Given the description of an element on the screen output the (x, y) to click on. 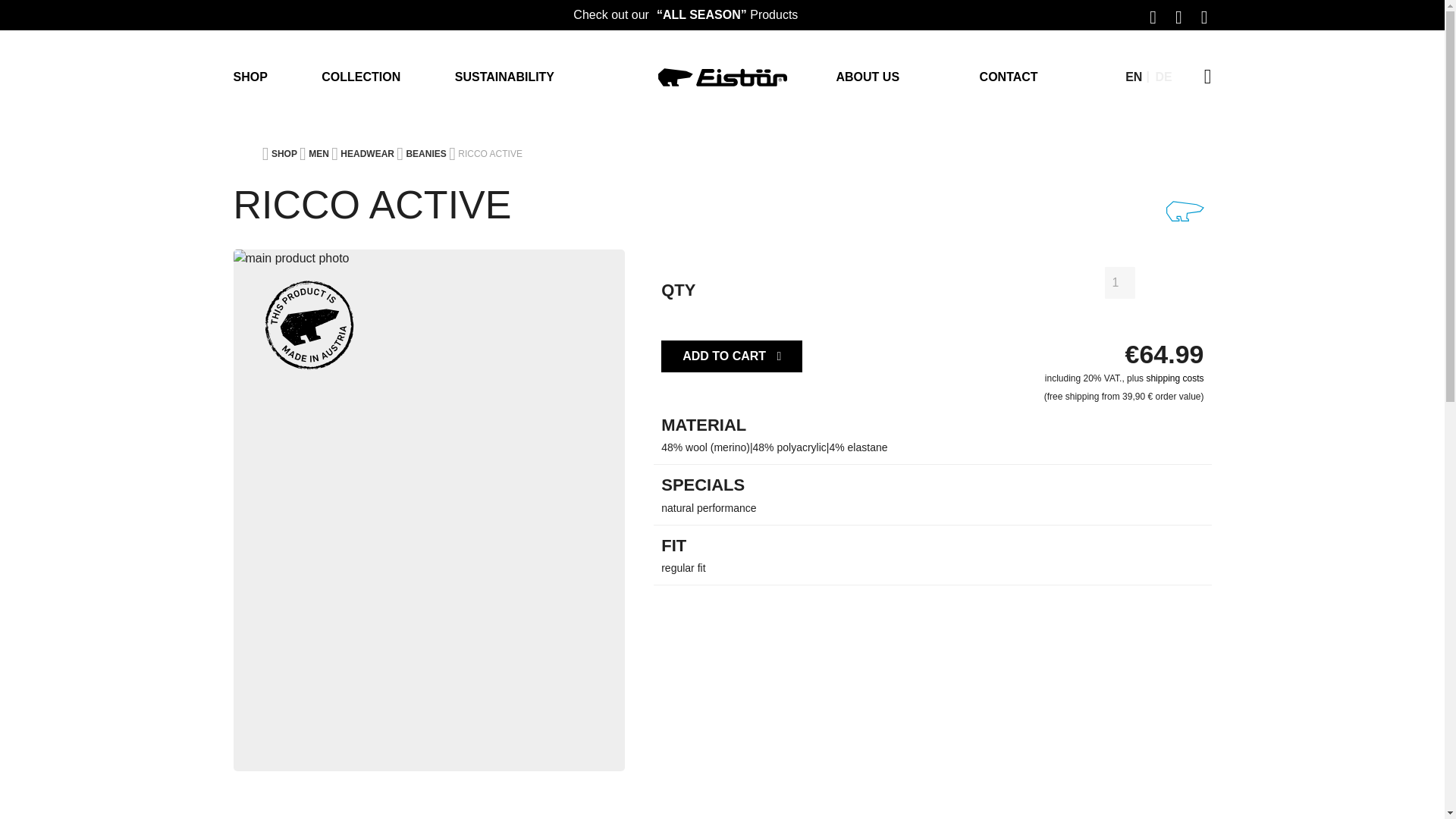
1 (1120, 282)
SHOP (276, 77)
Add to Cart (731, 356)
Qty (1120, 282)
